Given the description of an element on the screen output the (x, y) to click on. 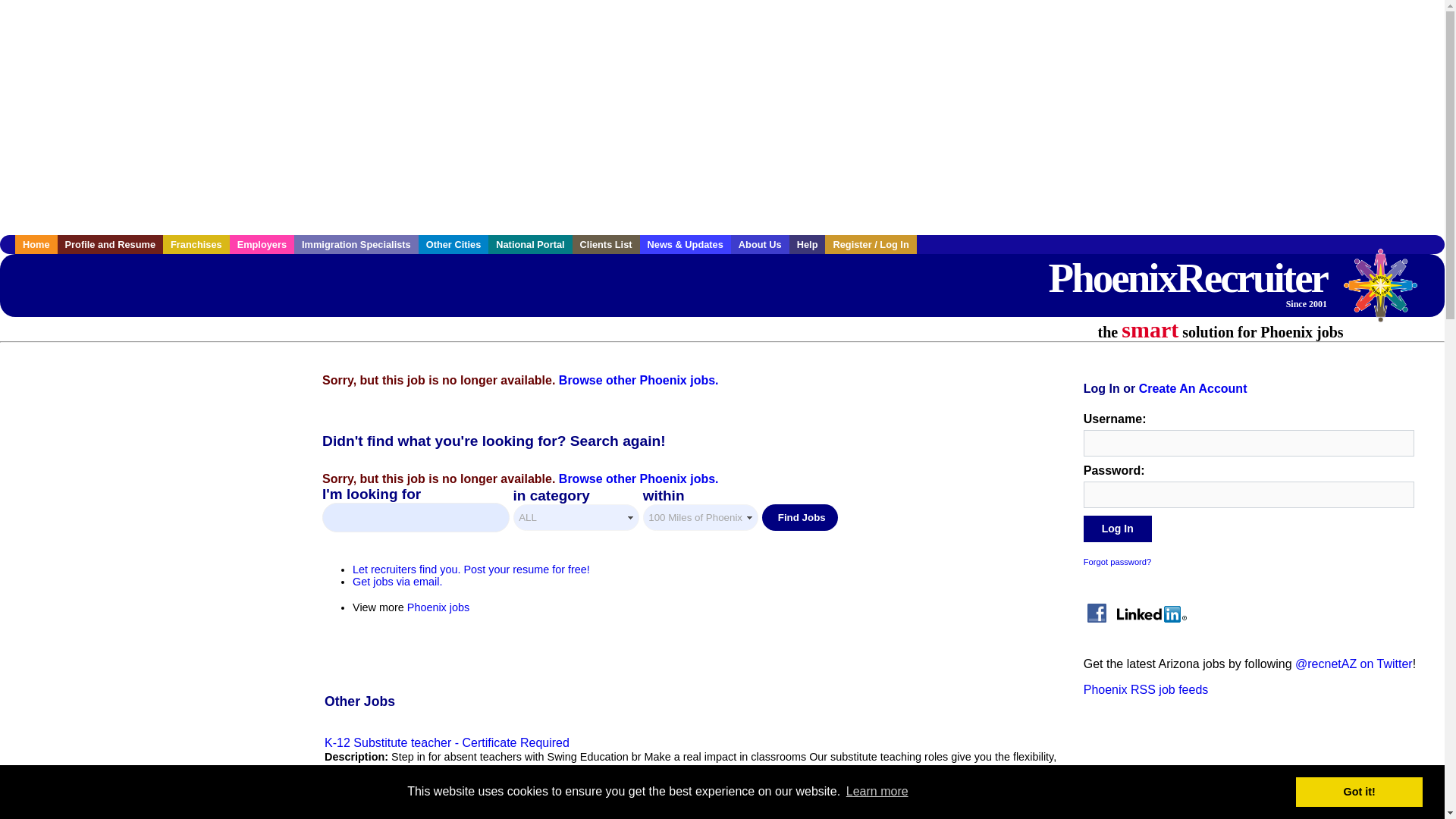
Login to my Phoenix  account (870, 244)
Search jobs in Phoenix (1187, 280)
Post your  resume for free! (470, 569)
Phoenix Employers (262, 244)
Phoenix  help (807, 244)
Get jobs via email. (397, 581)
Employers (262, 244)
Franchises (196, 244)
Help (807, 244)
Home (36, 244)
K-12 Substitute teacher - Certificate Required (446, 742)
Profile and Resume (110, 244)
Recruiter Media, Inc. (1387, 292)
Get  jobs via email (397, 581)
